Given the description of an element on the screen output the (x, y) to click on. 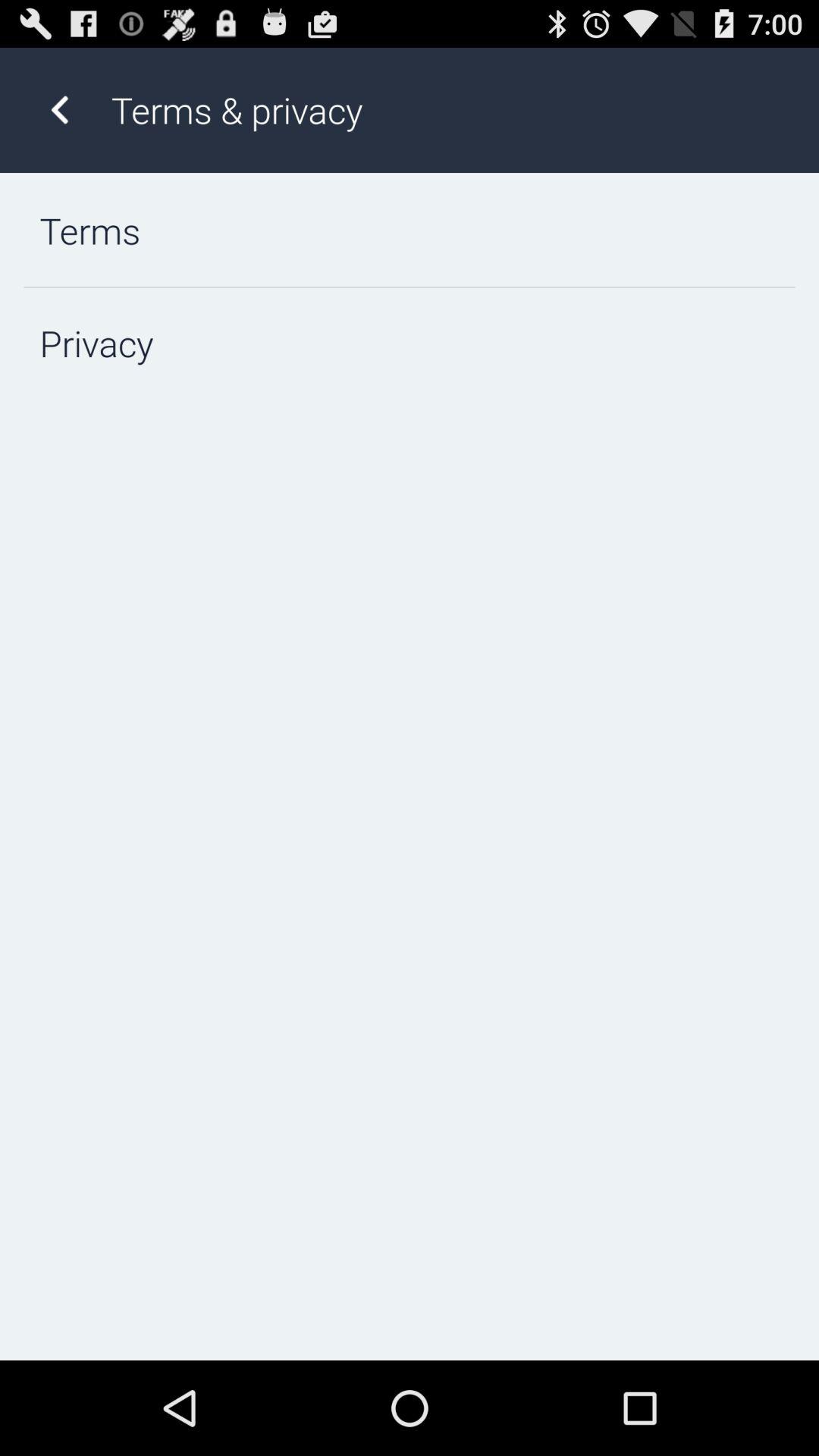
turn on the item to the left of terms & privacy (59, 109)
